Given the description of an element on the screen output the (x, y) to click on. 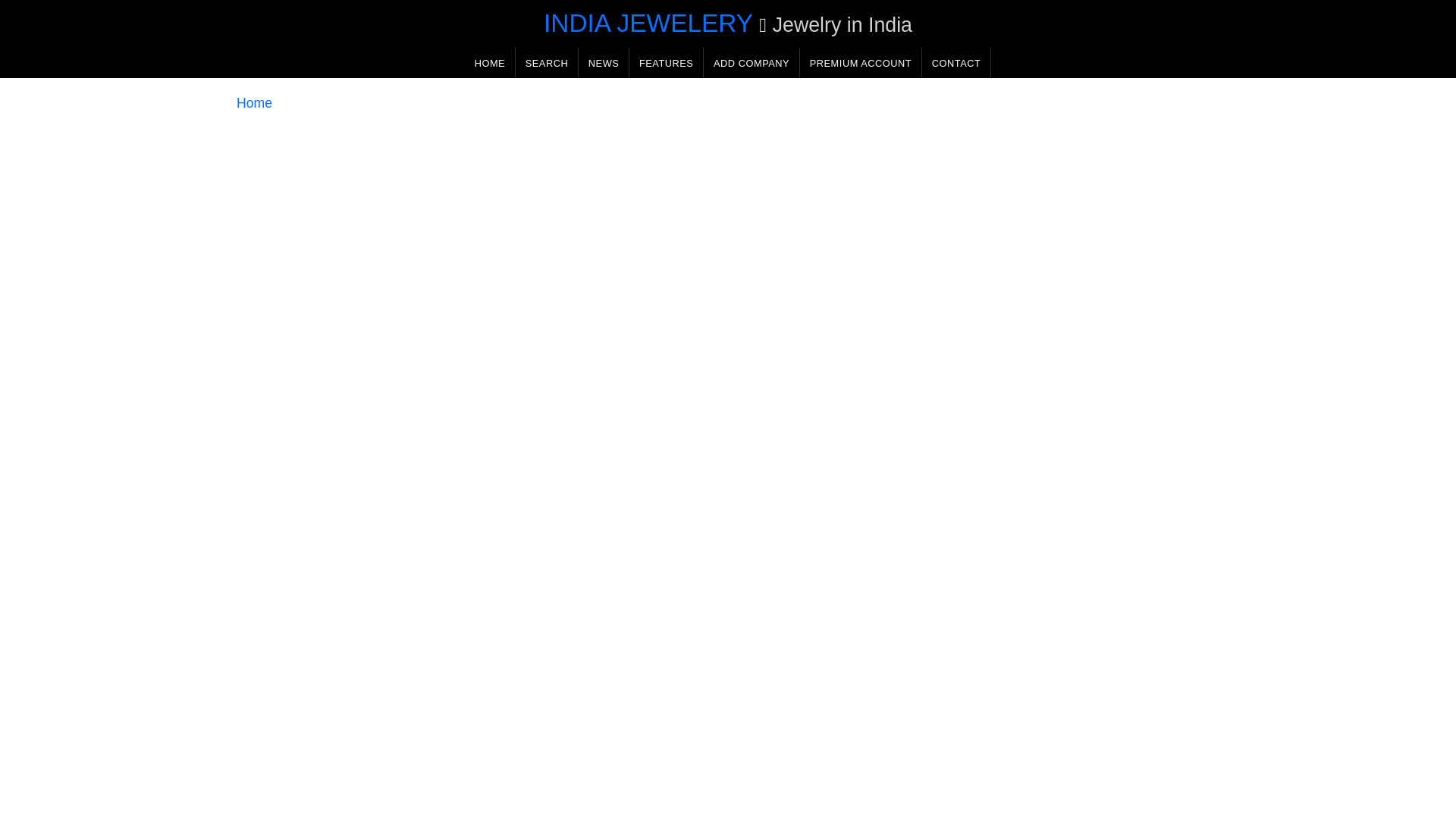
Premium account (860, 62)
Home (253, 102)
SEARCH (546, 62)
FEATURES (665, 62)
NEWS (603, 62)
Search in this webseite. (546, 62)
CONTACT (955, 62)
HOME (489, 62)
ADD COMPANY (751, 62)
INDIA JEWELERY (647, 22)
PREMIUM ACCOUNT (860, 62)
Add a new company (751, 62)
